Given the description of an element on the screen output the (x, y) to click on. 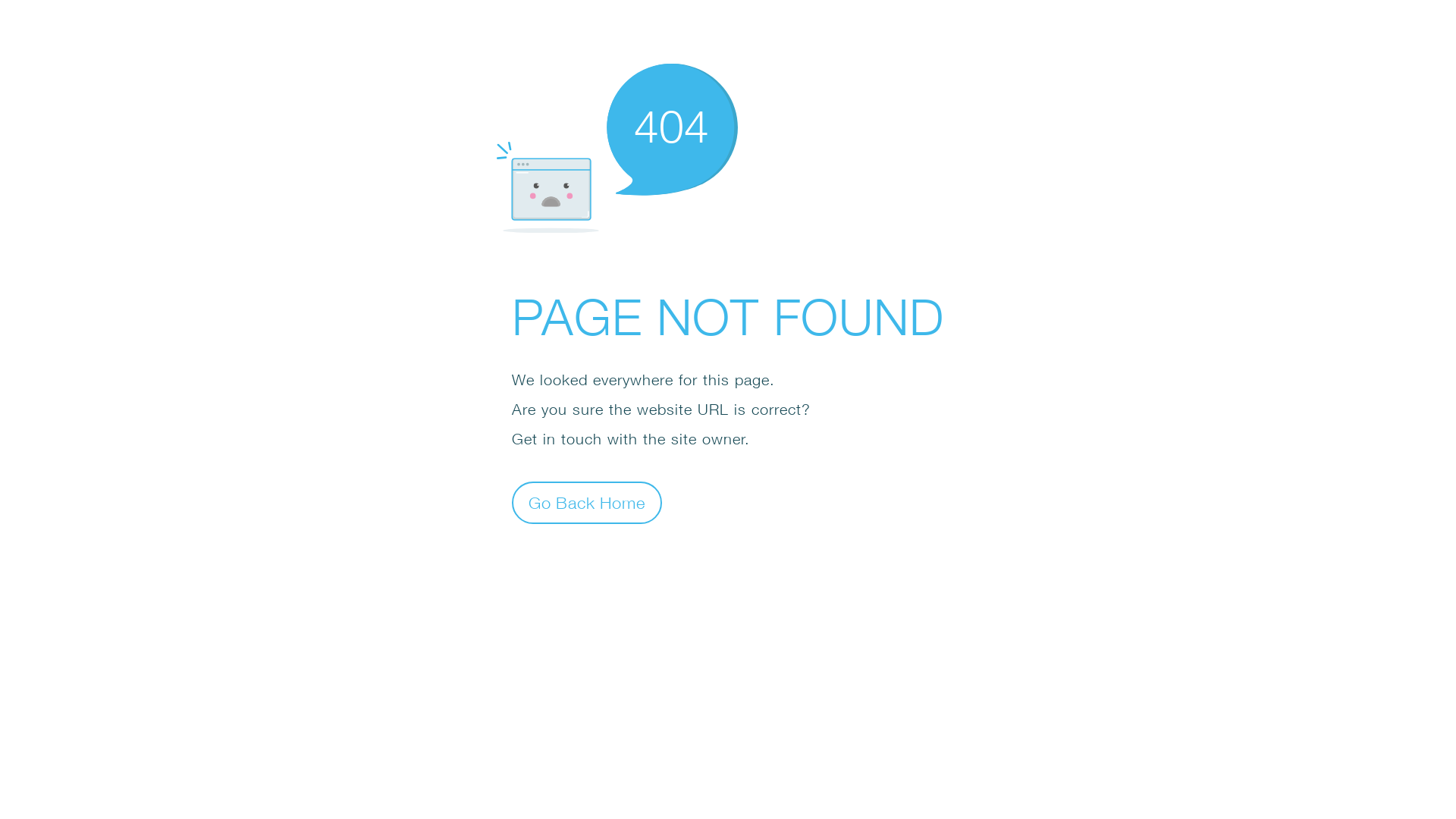
Go Back Home Element type: text (586, 502)
